Given the description of an element on the screen output the (x, y) to click on. 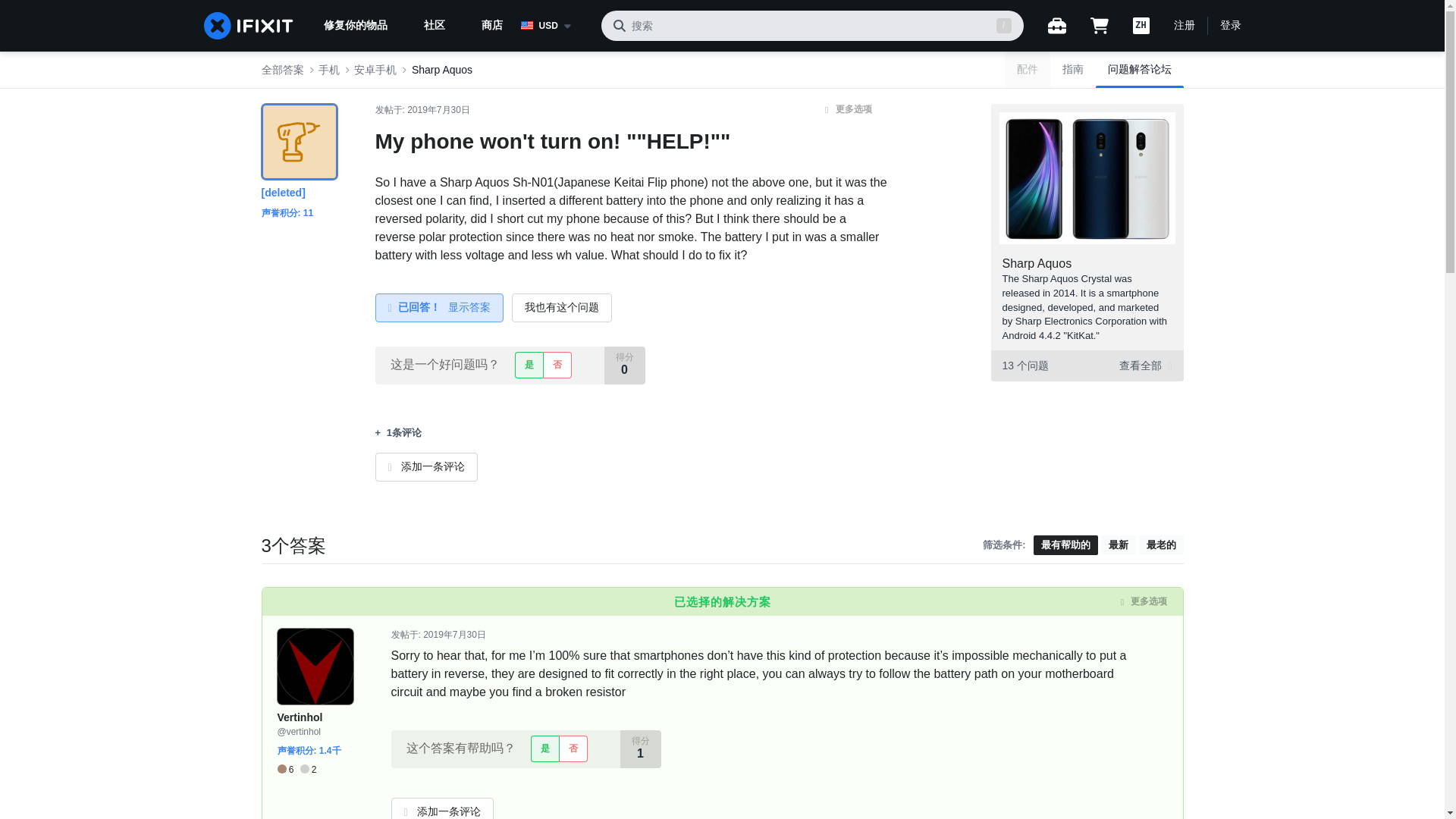
USD (553, 25)
Tue, 30 Jul 2019 20:35:44 -0700 (454, 634)
Sharp Aquos (1037, 263)
Sharp Aquos (441, 69)
Tue, 30 Jul 2019 15:50:52 -0700 (438, 109)
